Given the description of an element on the screen output the (x, y) to click on. 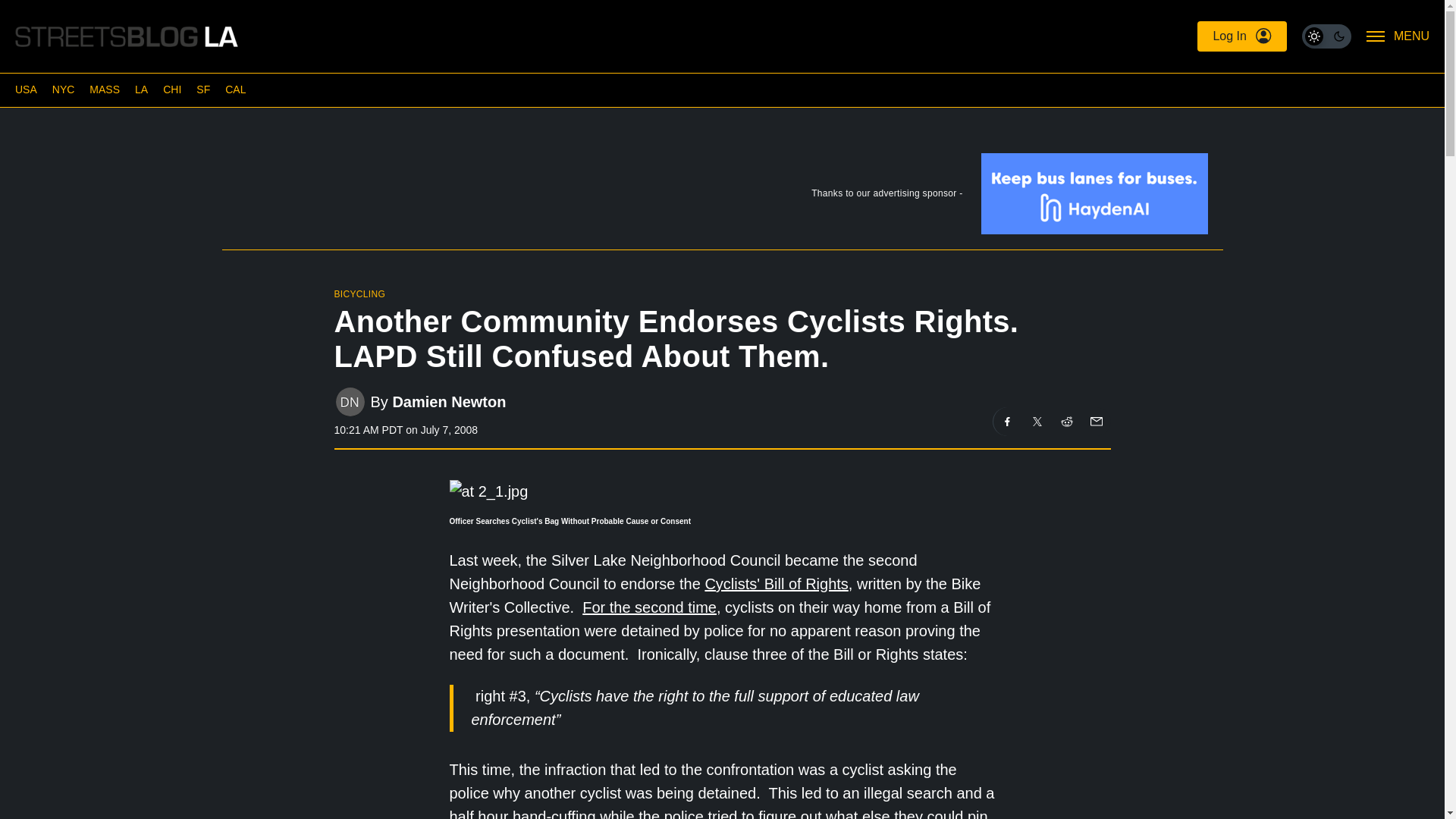
CHI (171, 89)
MENU (1398, 36)
Damien Newton (448, 401)
USA (25, 89)
BICYCLING (359, 294)
Log In (1240, 36)
NYC (63, 89)
Thanks to our advertising sponsor - (721, 196)
CAL (235, 89)
Share on Facebook (1007, 421)
